Given the description of an element on the screen output the (x, y) to click on. 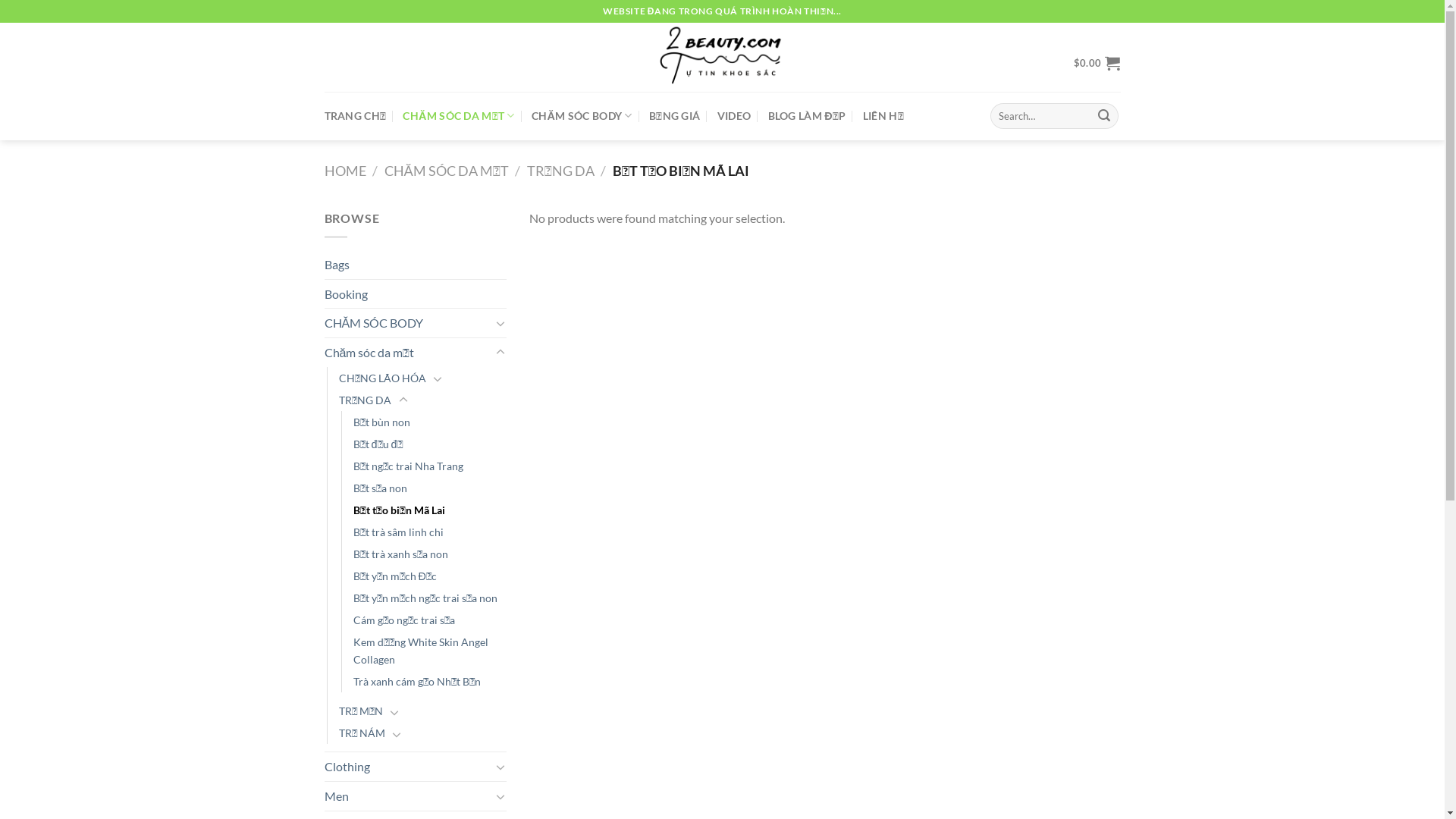
VIDEO Element type: text (733, 115)
Search Element type: text (1104, 115)
HOME Element type: text (345, 170)
My Blog - My WordPress Blog Element type: hover (722, 57)
Clothing Element type: text (407, 766)
Bags Element type: text (415, 264)
Men Element type: text (407, 795)
Booking Element type: text (415, 293)
$0.00 Element type: text (1096, 62)
